Given the description of an element on the screen output the (x, y) to click on. 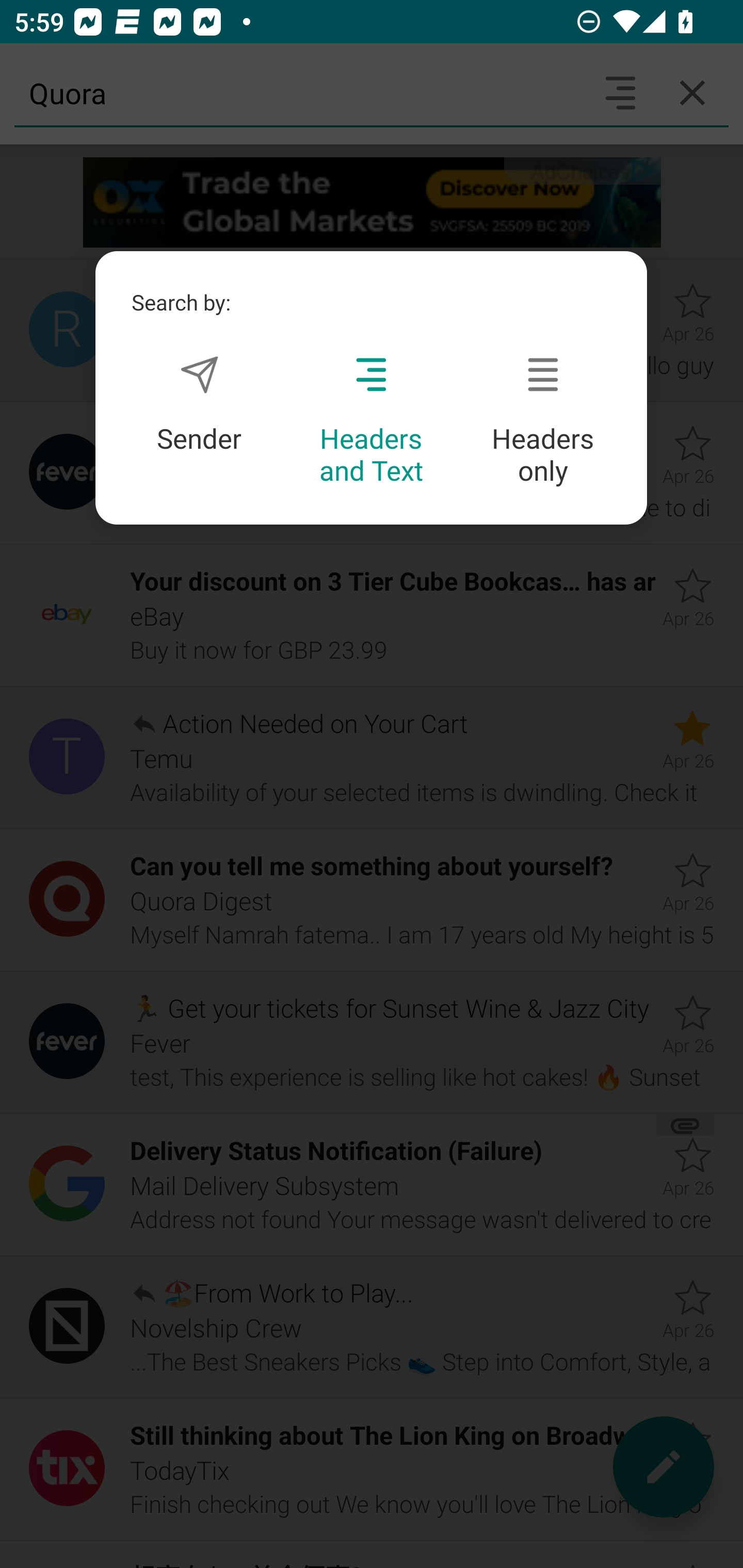
Sender (199, 404)
Headers and Text (371, 420)
Headers only (542, 420)
